Given the description of an element on the screen output the (x, y) to click on. 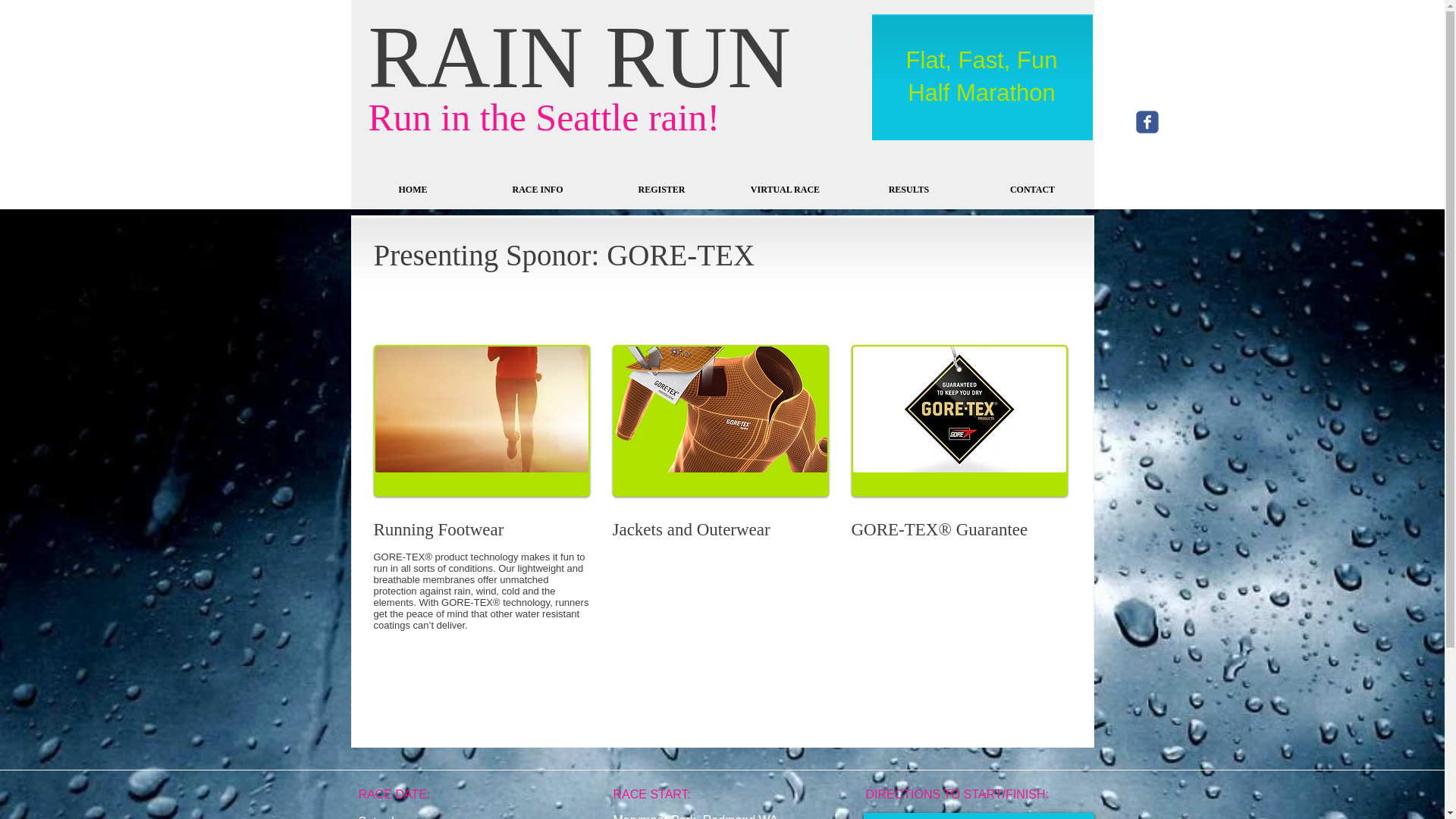
Google Maps (978, 817)
REGISTER (661, 189)
RESULTS (909, 189)
CONTACT (1032, 189)
RACE INFO (537, 189)
VIRTUAL RACE (784, 189)
HOME (412, 189)
